Given the description of an element on the screen output the (x, y) to click on. 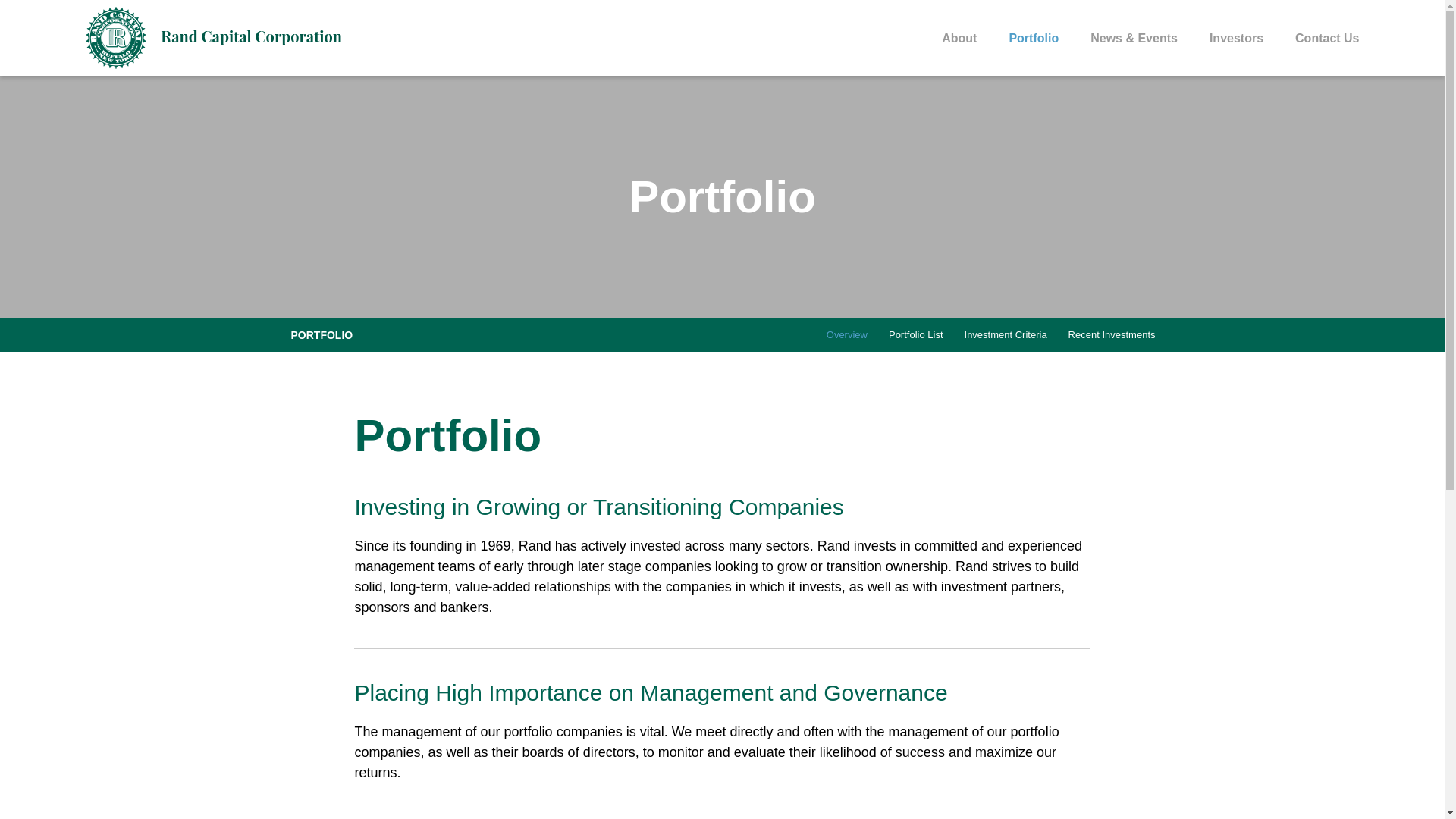
About (959, 54)
Contact Us (1318, 54)
Portfolio (1033, 54)
Investment Criteria (1005, 334)
Recent Investments (1112, 334)
Overview (846, 334)
Investors (1236, 54)
Portfolio List (915, 334)
